Given the description of an element on the screen output the (x, y) to click on. 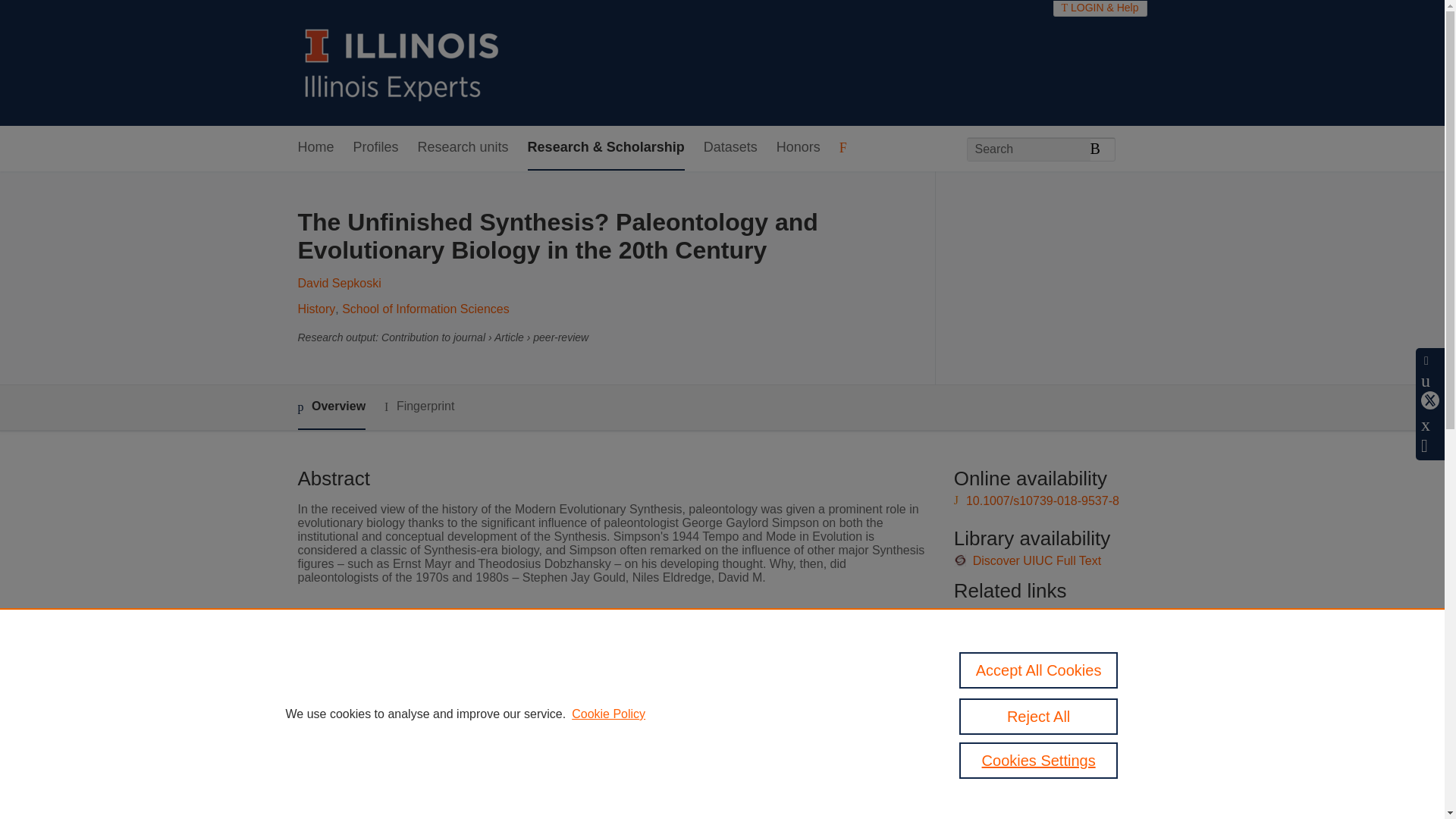
Link to the citations in Scopus (1048, 637)
David Sepkoski (338, 282)
Discover UIUC Full Text (1037, 560)
Link to publication in Scopus (1045, 612)
University of Illinois Urbana-Champaign Home (402, 62)
Overview (331, 406)
History (315, 308)
Profiles (375, 148)
Fingerprint (419, 406)
School of Information Sciences (425, 308)
Datasets (730, 148)
Honors (798, 148)
Journal of the History of Biology (594, 667)
Research units (462, 148)
